Given the description of an element on the screen output the (x, y) to click on. 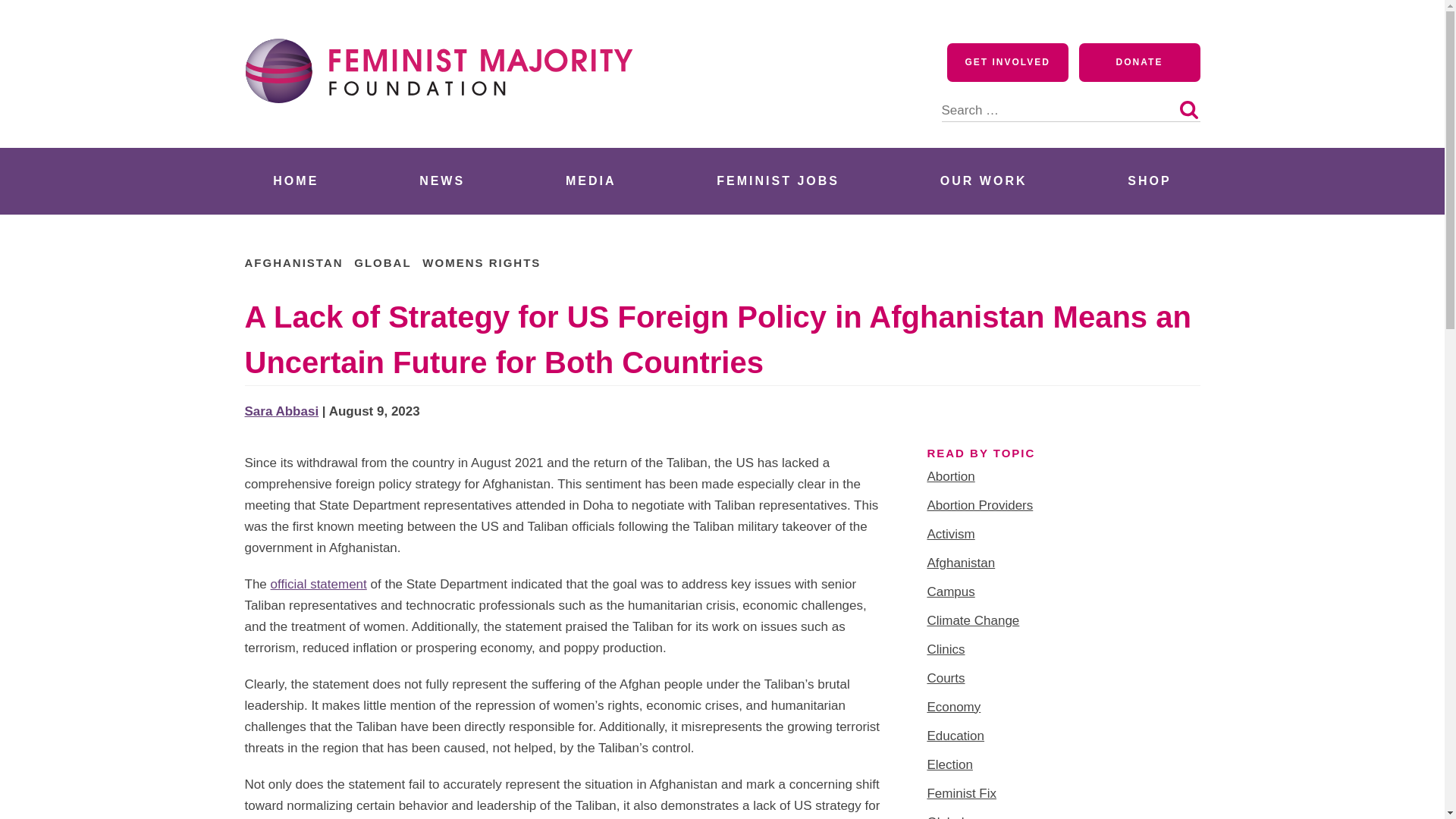
Abortion (950, 476)
NEWS (441, 181)
HOME (295, 181)
Activism (950, 534)
Feminist Majority Foundation (445, 130)
Search for: (1070, 101)
Abortion Providers (979, 504)
Search (1187, 109)
official statement (318, 584)
Posts by Sara Abbasi (281, 411)
Campus (950, 591)
Afghanistan (960, 563)
FEMINIST JOBS (777, 181)
Climate Change (972, 620)
OUR WORK (983, 181)
